Given the description of an element on the screen output the (x, y) to click on. 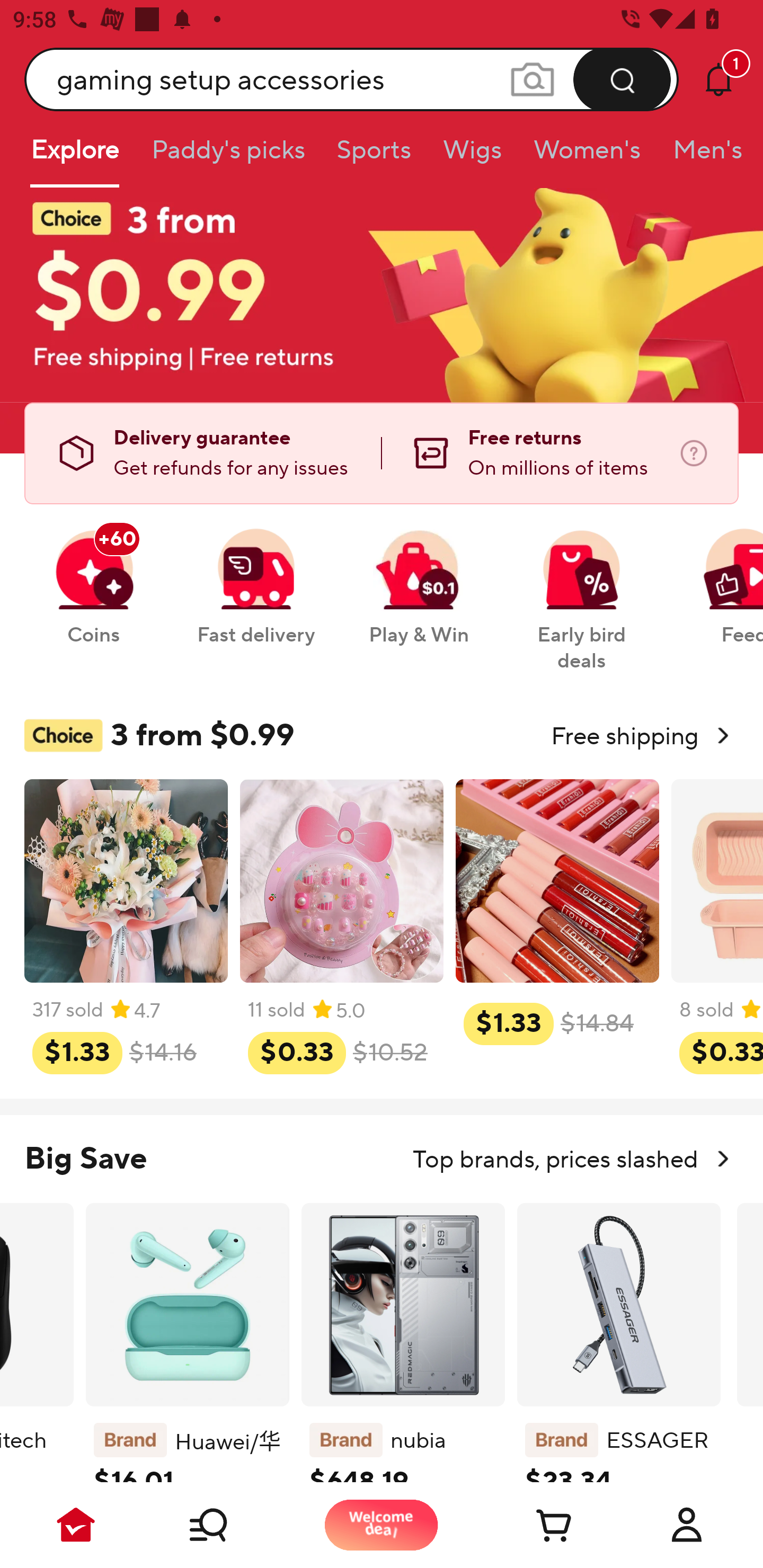
gaming setup accessories (351, 79)
Paddy's picks (227, 155)
Sports (373, 155)
Wigs (472, 155)
Women's (586, 155)
Men's (701, 155)
Coinsbutton +60 Coins (93, 576)
Fast deliverybutton Fast delivery (255, 576)
Play & Winbutton Play & Win (418, 576)
Early bird dealsbutton Early bird deals (581, 589)
Feedbutton Feed (719, 576)
Shop (228, 1524)
Cart (533, 1524)
Account (686, 1524)
